Given the description of an element on the screen output the (x, y) to click on. 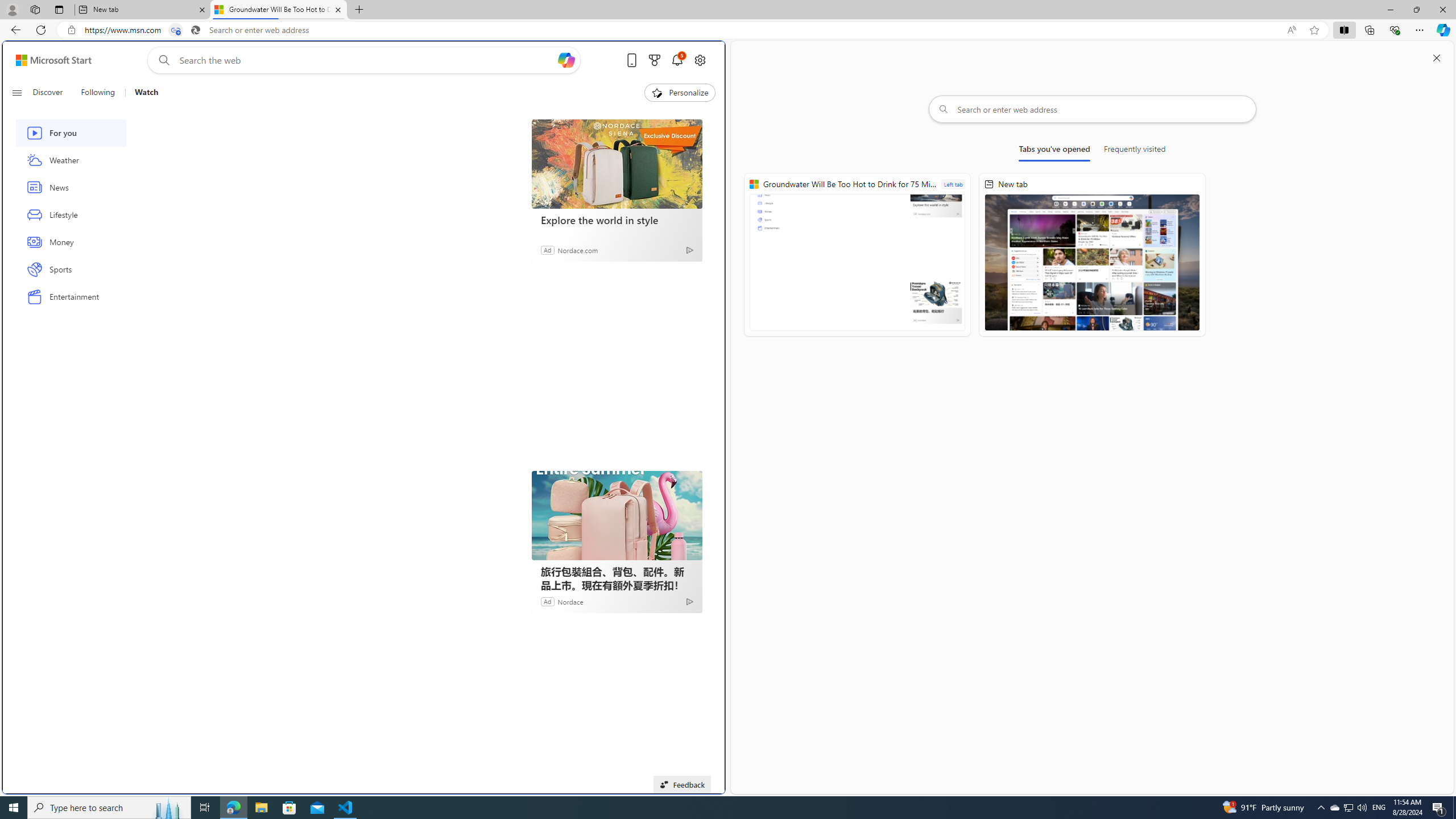
App bar (728, 29)
